Given the description of an element on the screen output the (x, y) to click on. 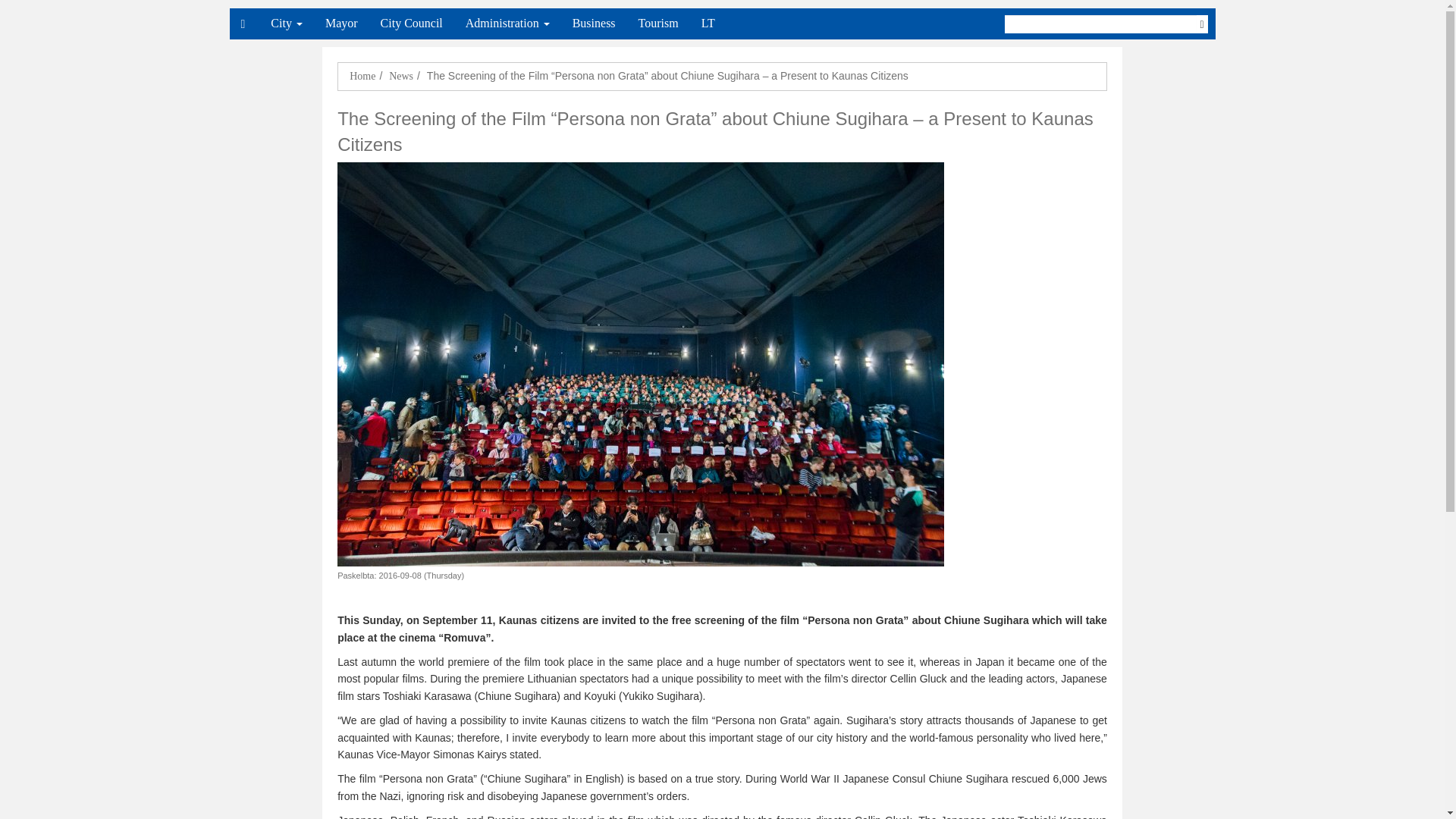
Business (593, 24)
Business (593, 24)
News (400, 75)
Tourism (658, 24)
Mayor (341, 24)
LT (708, 24)
City (286, 24)
City Council (411, 24)
Administration (507, 24)
